Given the description of an element on the screen output the (x, y) to click on. 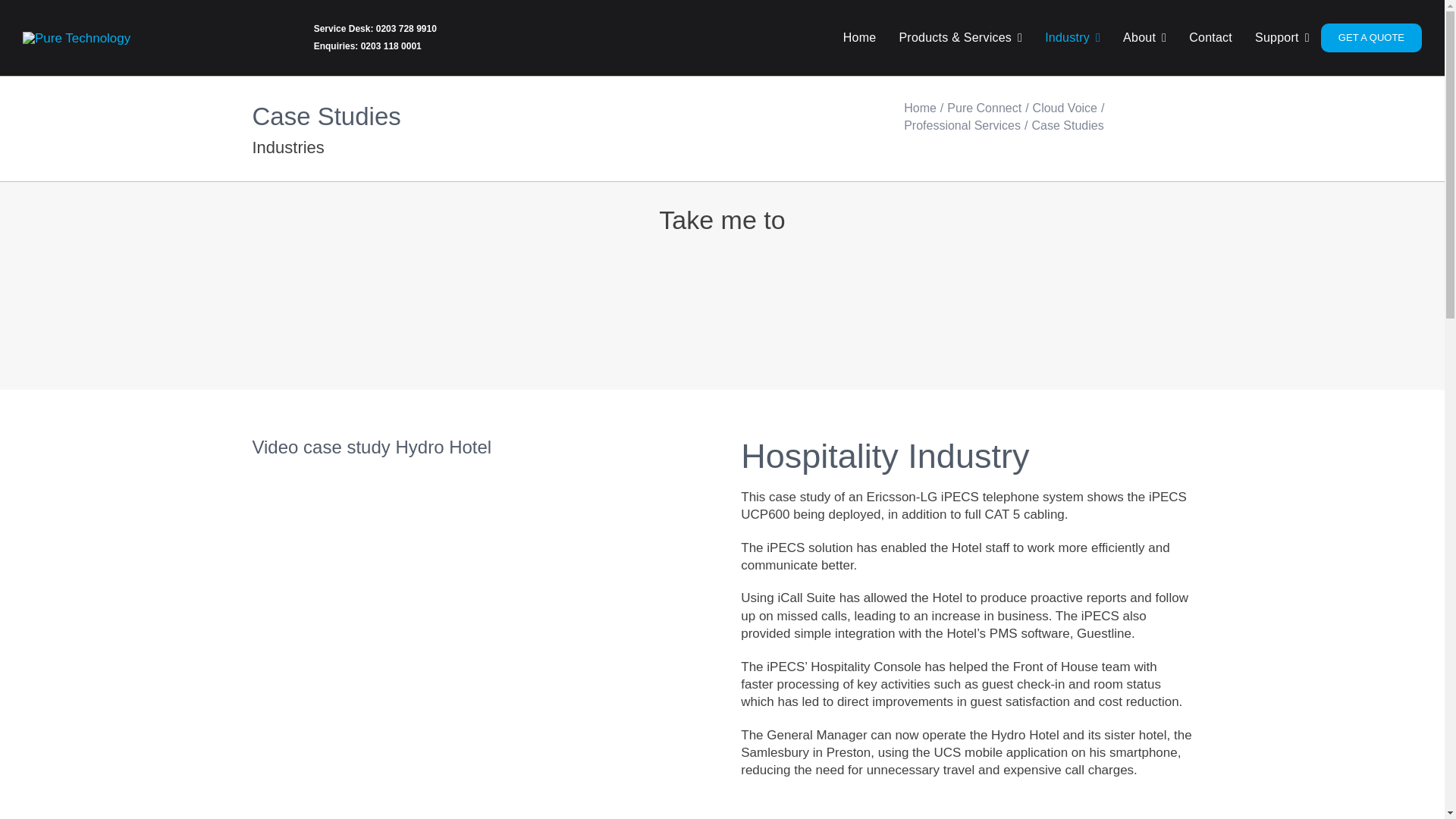
Home (920, 107)
GET A QUOTE (1371, 38)
Cloud Voice (1064, 107)
Professional Services (962, 124)
Pure Connect (984, 107)
Industry (1072, 38)
Support (1281, 38)
